Given the description of an element on the screen output the (x, y) to click on. 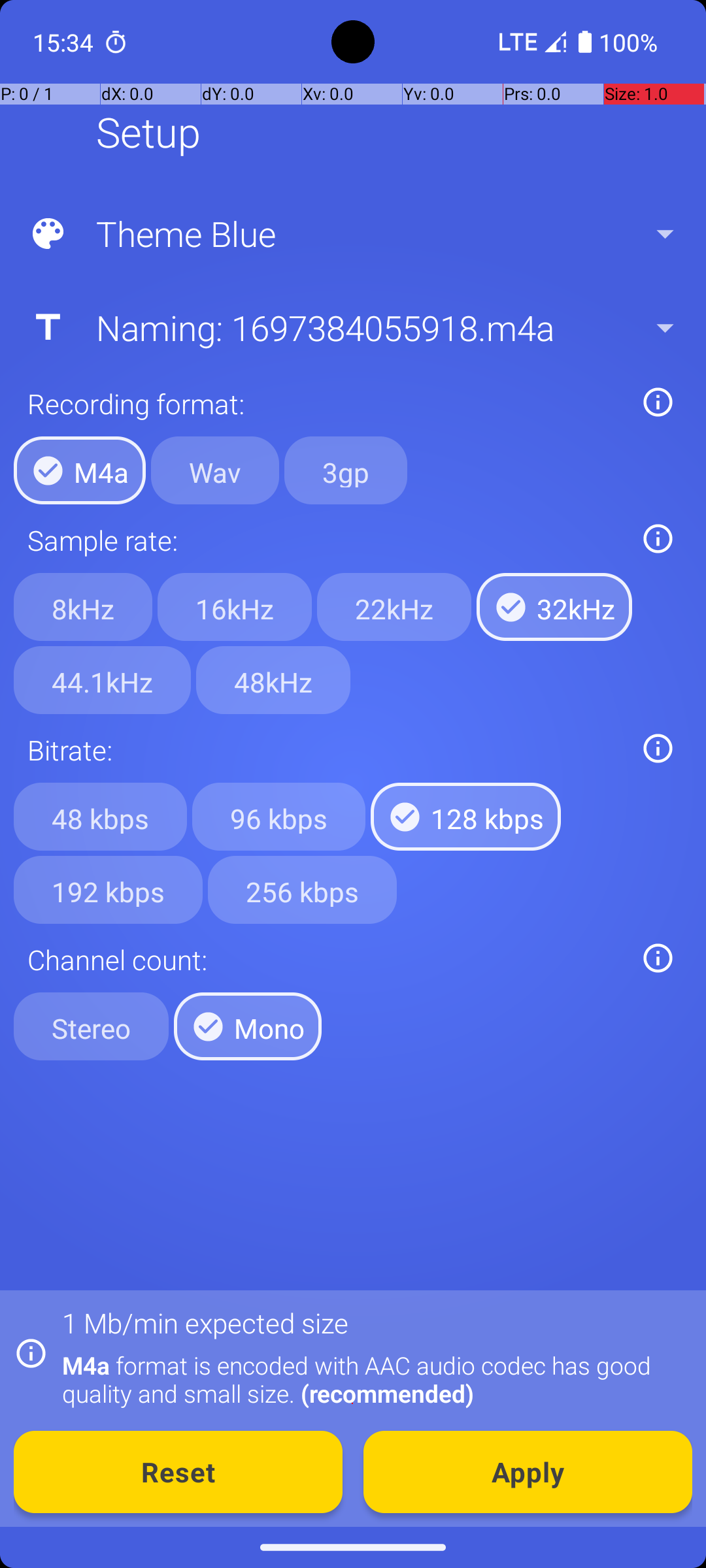
Theme Blue Element type: android.widget.TextView (352, 233)
Naming: 1697384055918.m4a Element type: android.widget.TextView (352, 327)
